Given the description of an element on the screen output the (x, y) to click on. 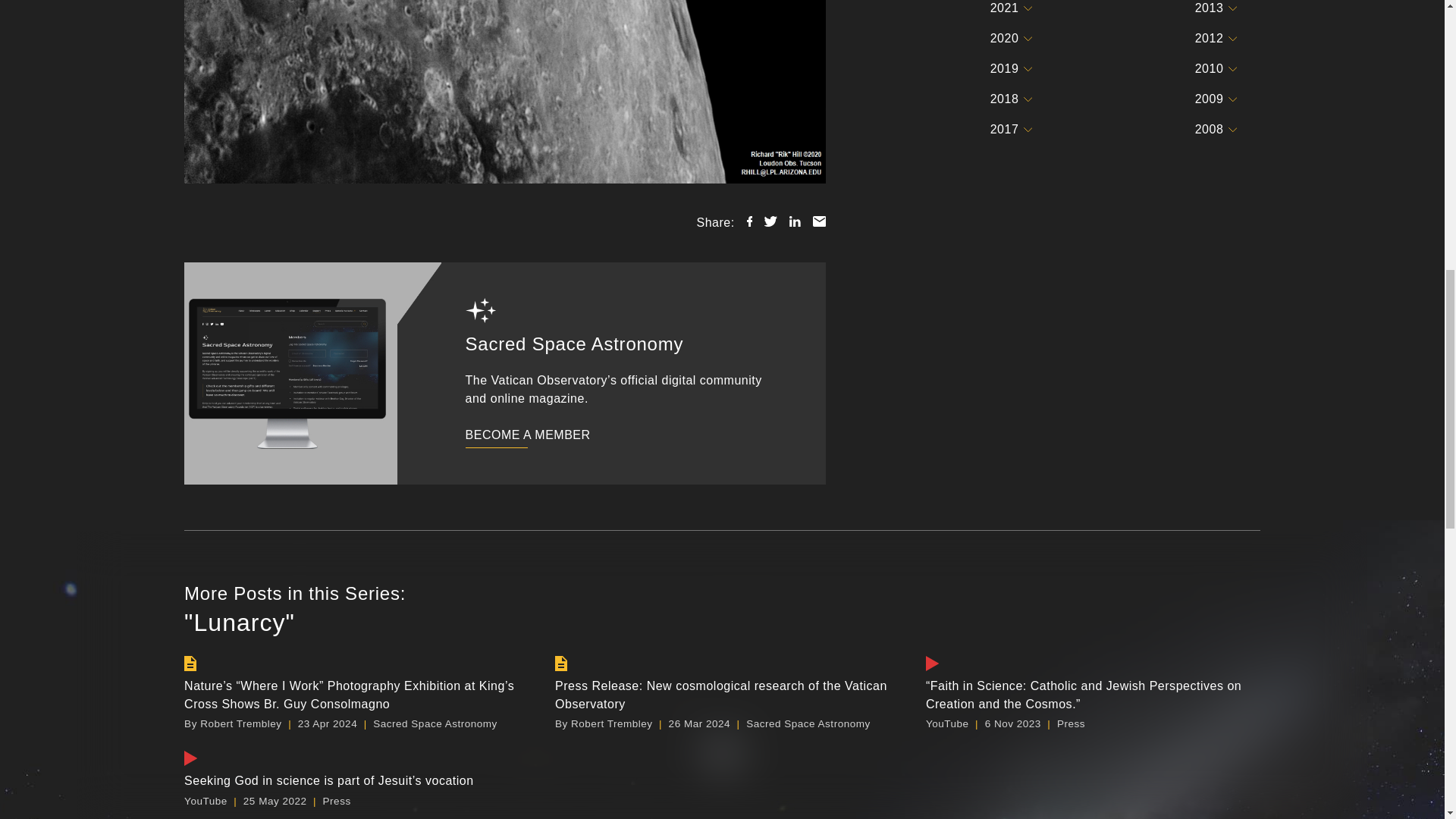
Share on Twitter (770, 221)
Share via Email (818, 221)
Share on LinkedIn (794, 221)
